Given the description of an element on the screen output the (x, y) to click on. 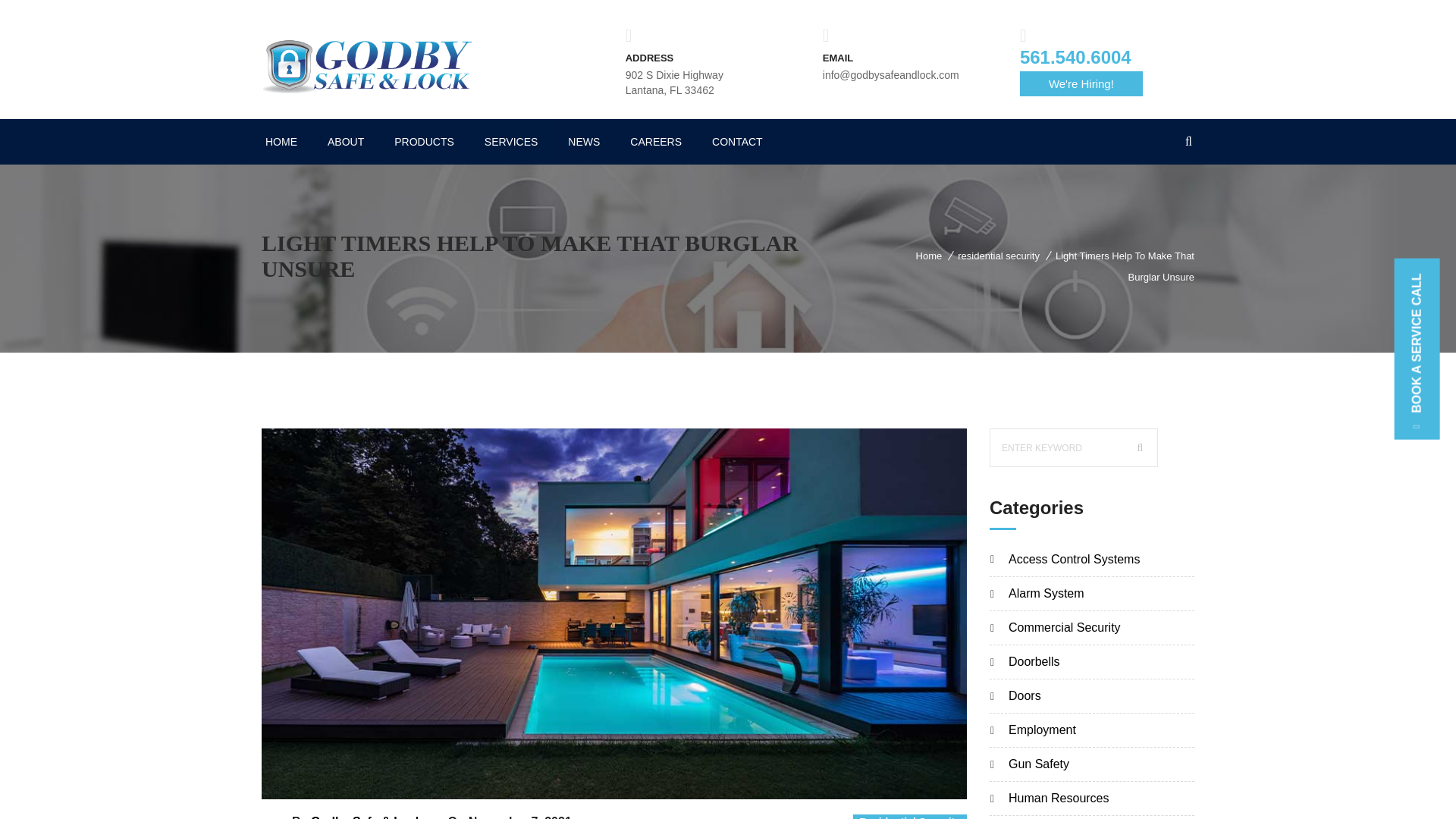
CONTACT US (1081, 83)
Enter Keyword (1073, 447)
Permalink to Light Timers Help To Make That Burglar Unsure (614, 794)
HOME (281, 141)
Go (1139, 447)
ABOUT (345, 141)
We're Hiring! (1081, 83)
PRODUCTS (423, 141)
